Given the description of an element on the screen output the (x, y) to click on. 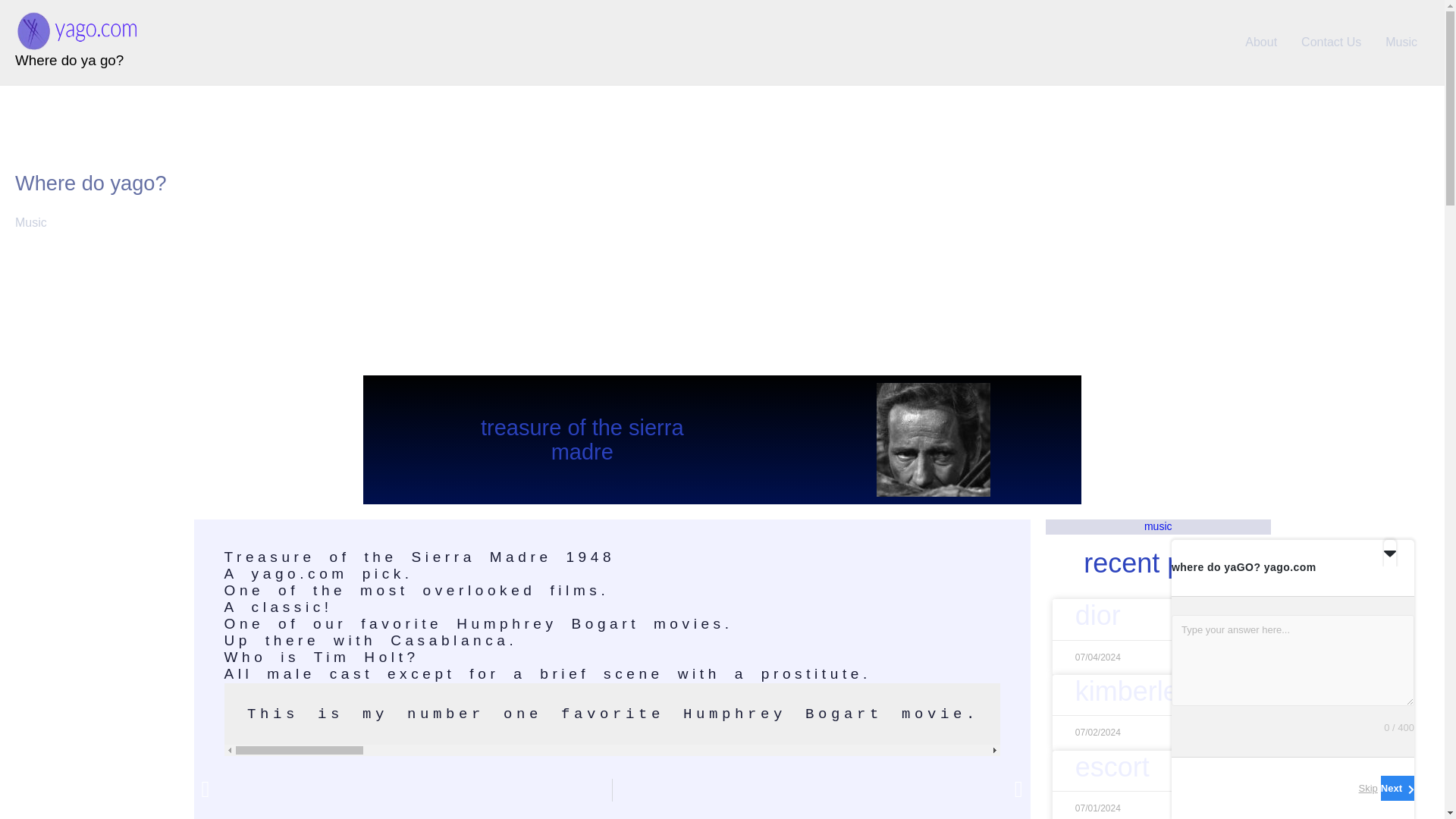
Prev (406, 789)
Music (1401, 42)
kimberleyash (1155, 690)
Contact Us (1330, 42)
Music (30, 222)
dior (1098, 614)
Next (817, 789)
music (1158, 526)
About (1260, 42)
escort (1112, 766)
